Given the description of an element on the screen output the (x, y) to click on. 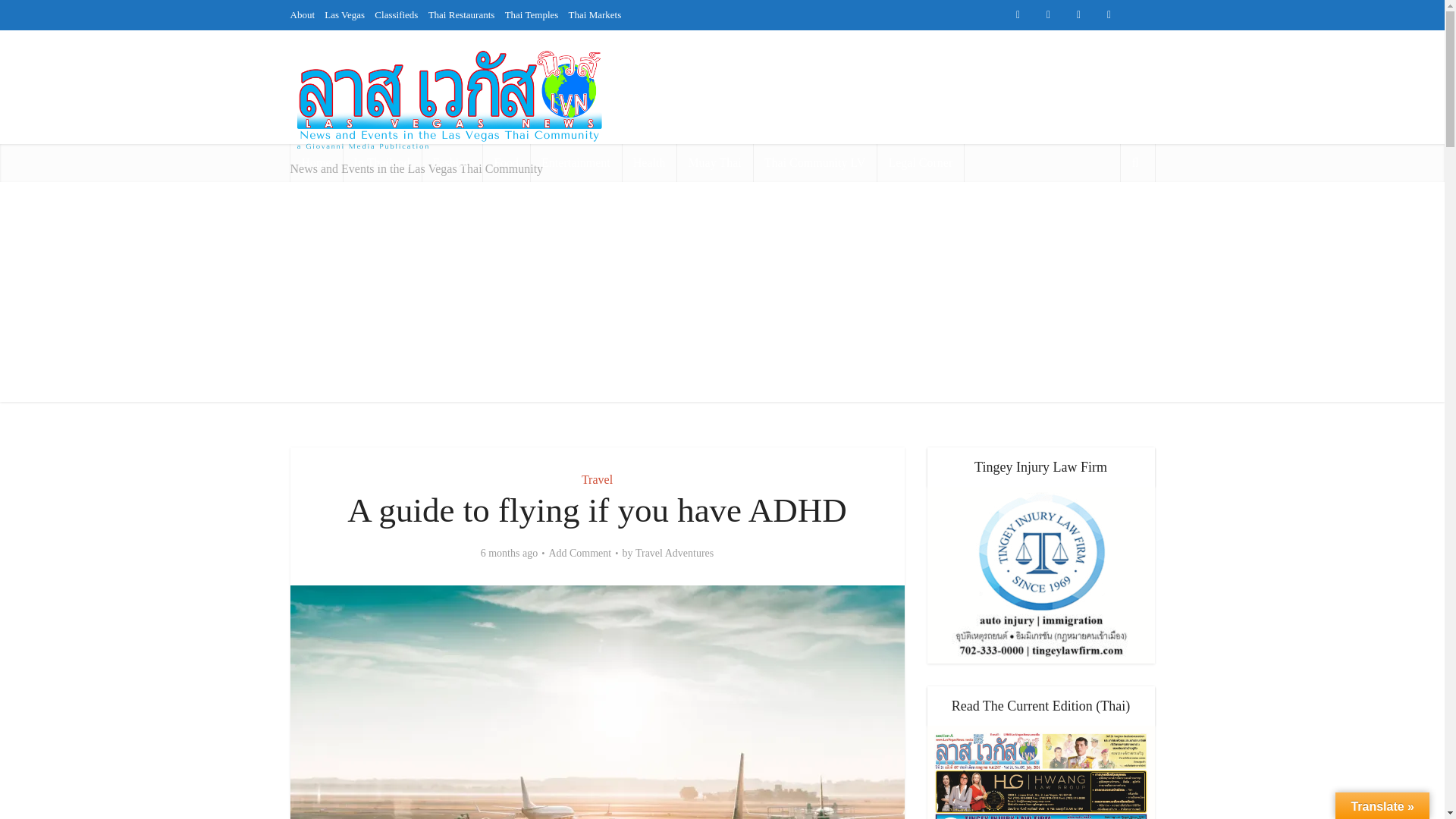
About (301, 14)
Las Vegas (638, 44)
Entertainment (575, 162)
Thai Restaurants (755, 44)
Thai Markets (595, 14)
Home (315, 162)
Thai Temples (826, 44)
Muay Thai (714, 162)
Thai Markets (722, 75)
Thai Temples (532, 14)
